Given the description of an element on the screen output the (x, y) to click on. 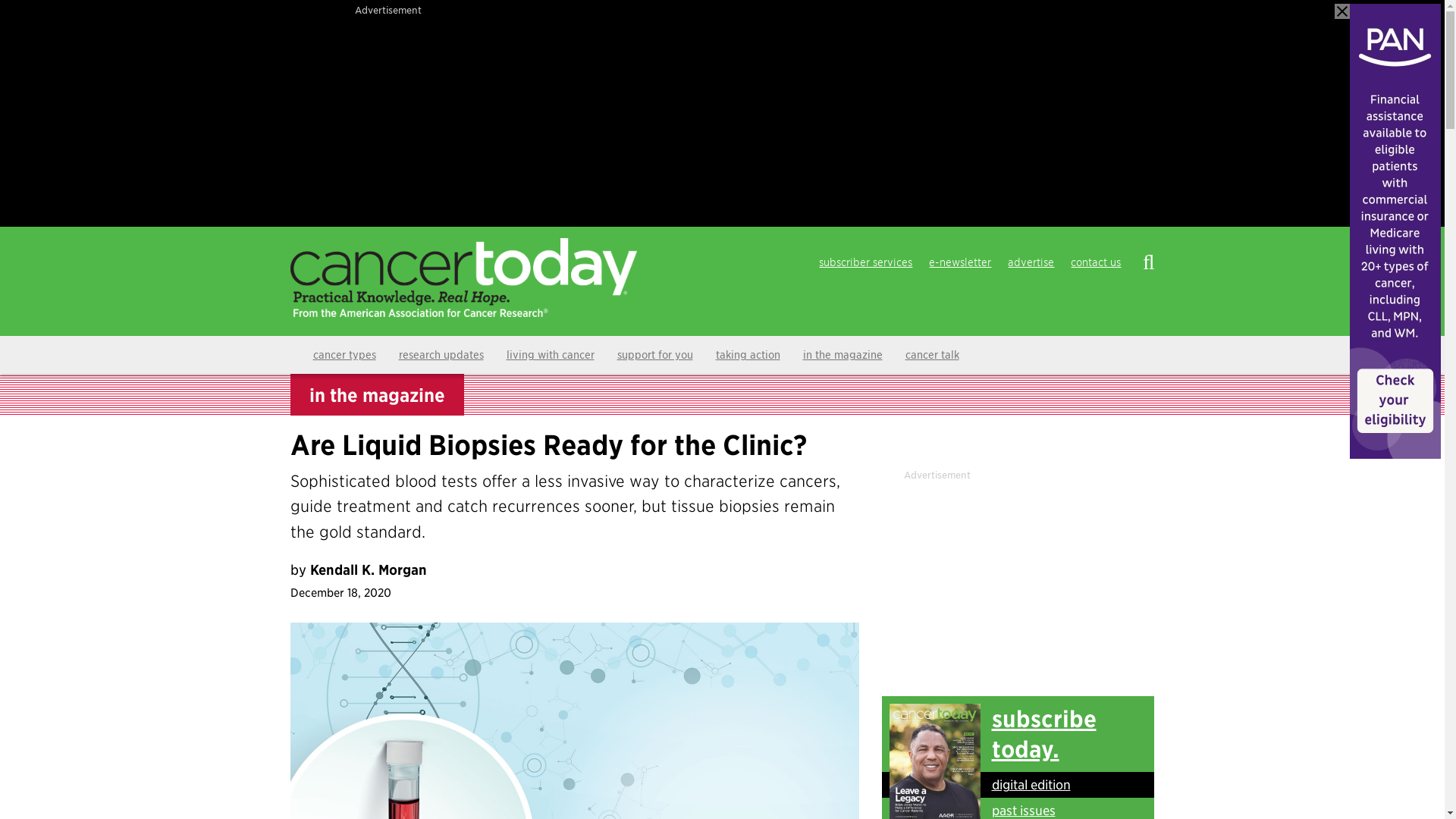
support for you (654, 354)
living with cancer (550, 354)
e-newsletter (960, 262)
3rd party ad content (1017, 576)
Close (1342, 11)
research updates (441, 354)
subscriber services (865, 262)
cancer types (344, 354)
contact us (1095, 262)
advertise (1030, 262)
